Given the description of an element on the screen output the (x, y) to click on. 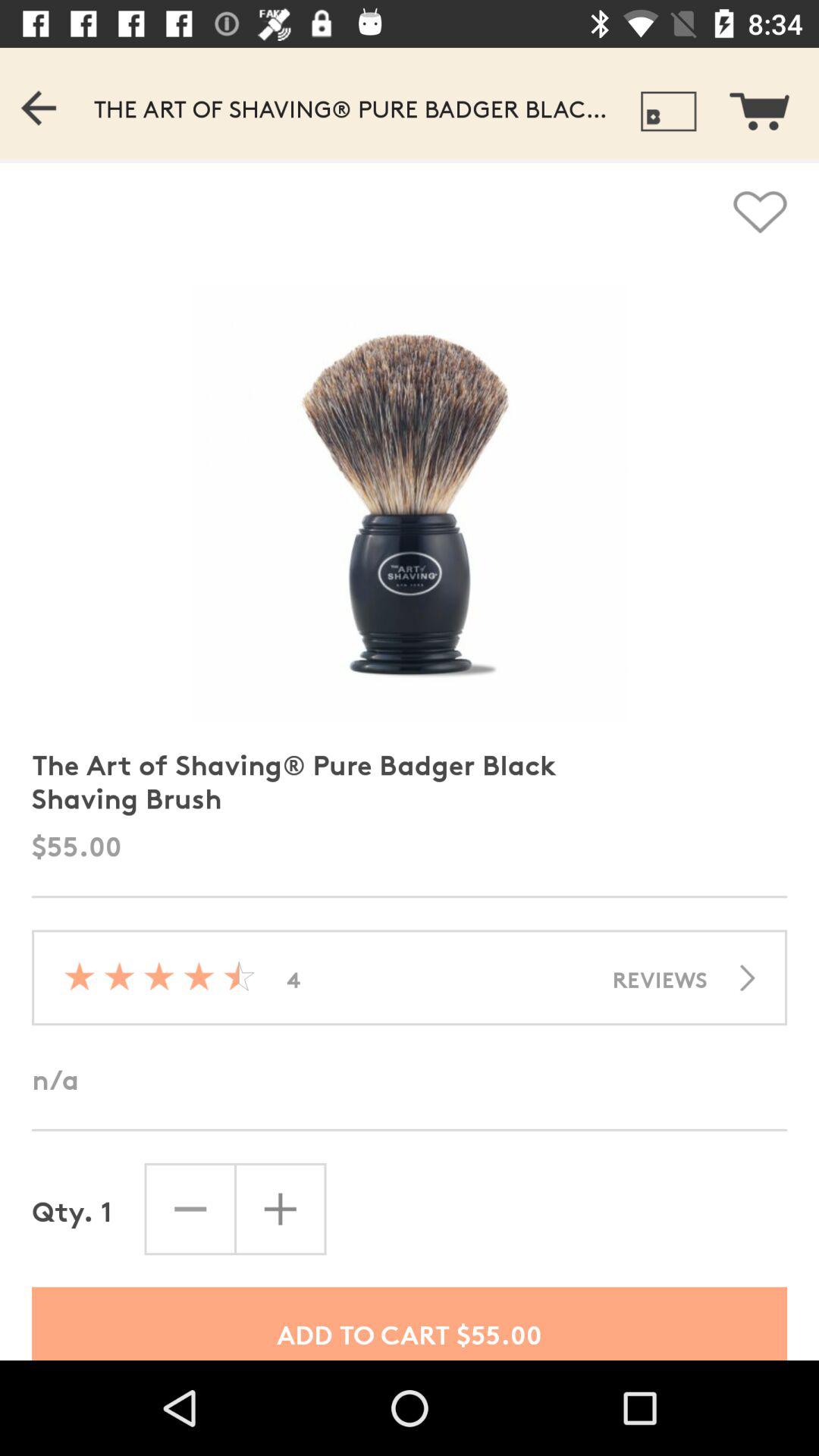
go back (69, 103)
